Given the description of an element on the screen output the (x, y) to click on. 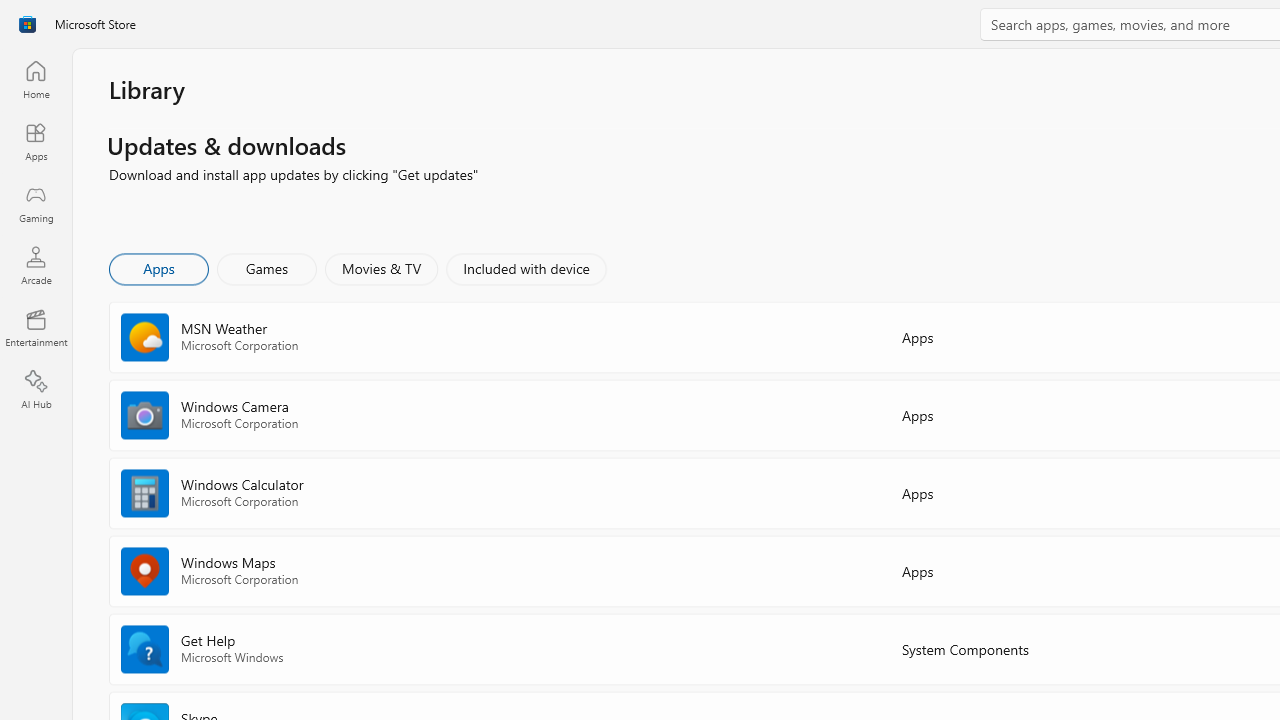
Arcade (35, 265)
Entertainment (35, 327)
Included with device (525, 268)
Movies & TV (381, 268)
Home (35, 79)
Apps (158, 268)
Apps (35, 141)
AI Hub (35, 390)
Gaming (35, 203)
Games (267, 268)
Class: Image (27, 24)
